Given the description of an element on the screen output the (x, y) to click on. 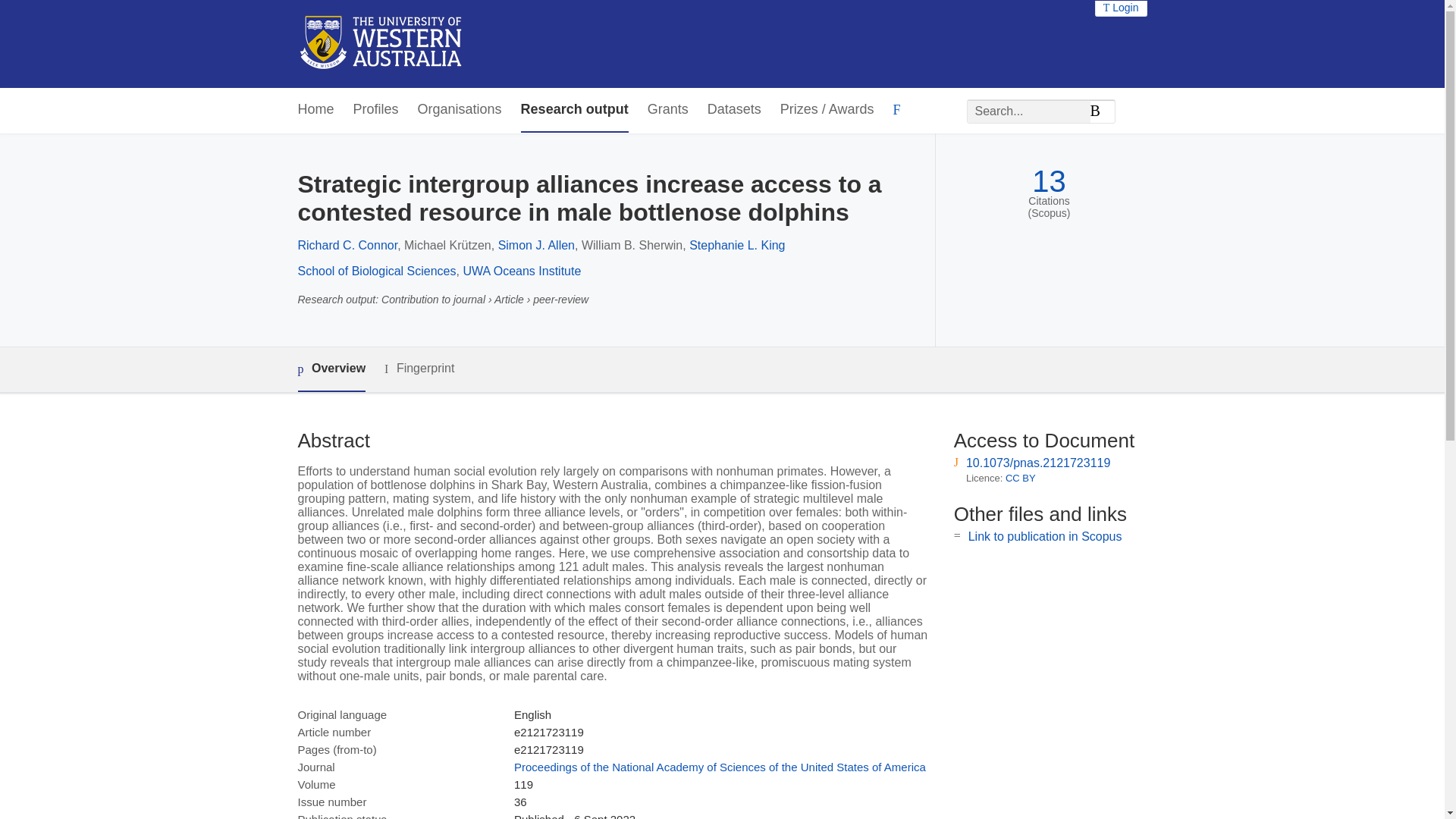
Profiles (375, 109)
Simon J. Allen (536, 245)
Datasets (734, 109)
Fingerprint (419, 368)
Stephanie L. King (736, 245)
Link to publication in Scopus (1045, 535)
CC BY (1020, 478)
Research output (574, 109)
